Given the description of an element on the screen output the (x, y) to click on. 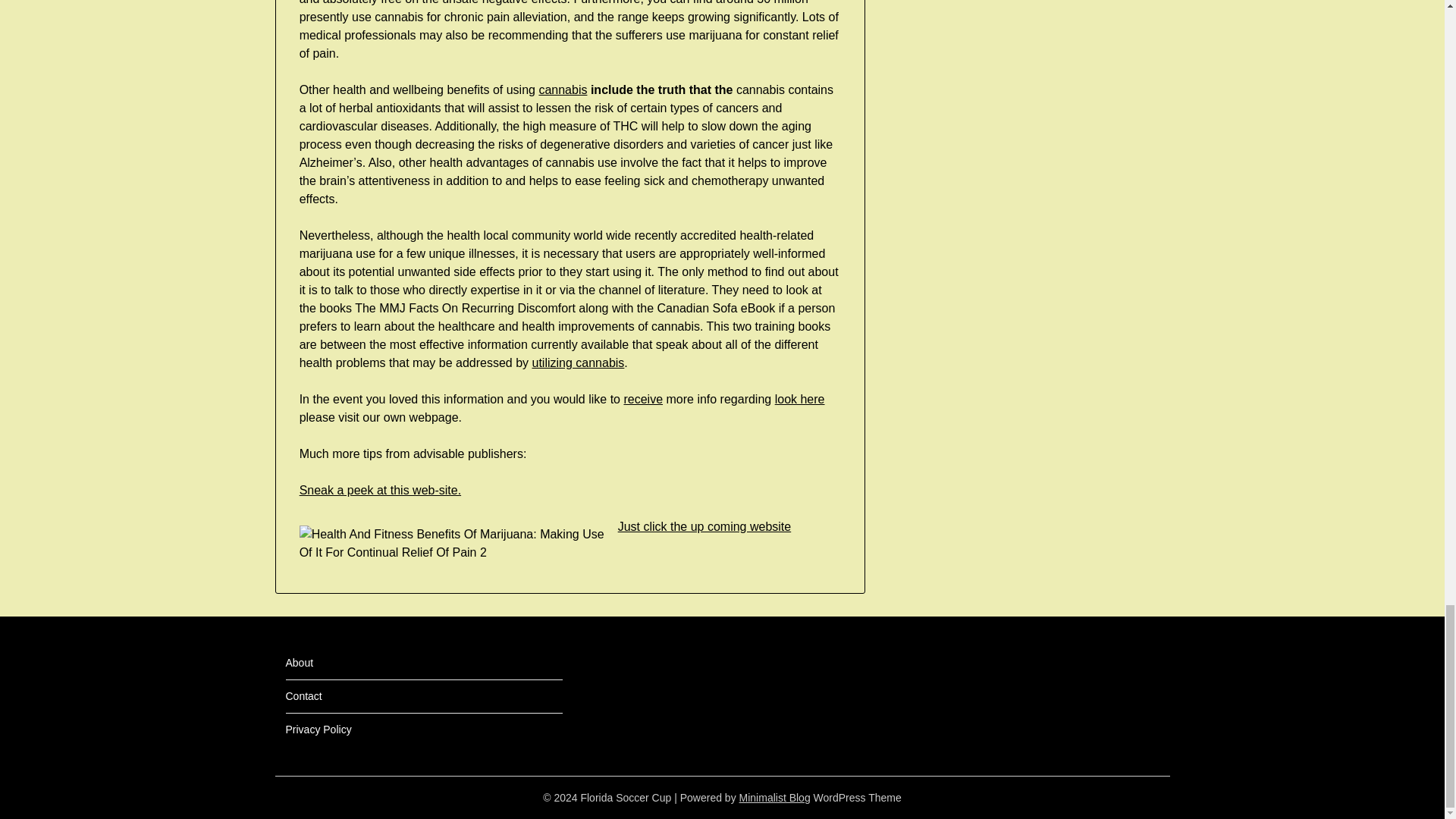
utilizing cannabis (577, 362)
Sneak a peek at this web-site. (380, 490)
cannabis (562, 89)
look here (799, 399)
Privacy Policy (317, 729)
Minimalist Blog (774, 797)
About (299, 662)
Just click the up coming website (704, 526)
receive (642, 399)
Contact (303, 695)
